Given the description of an element on the screen output the (x, y) to click on. 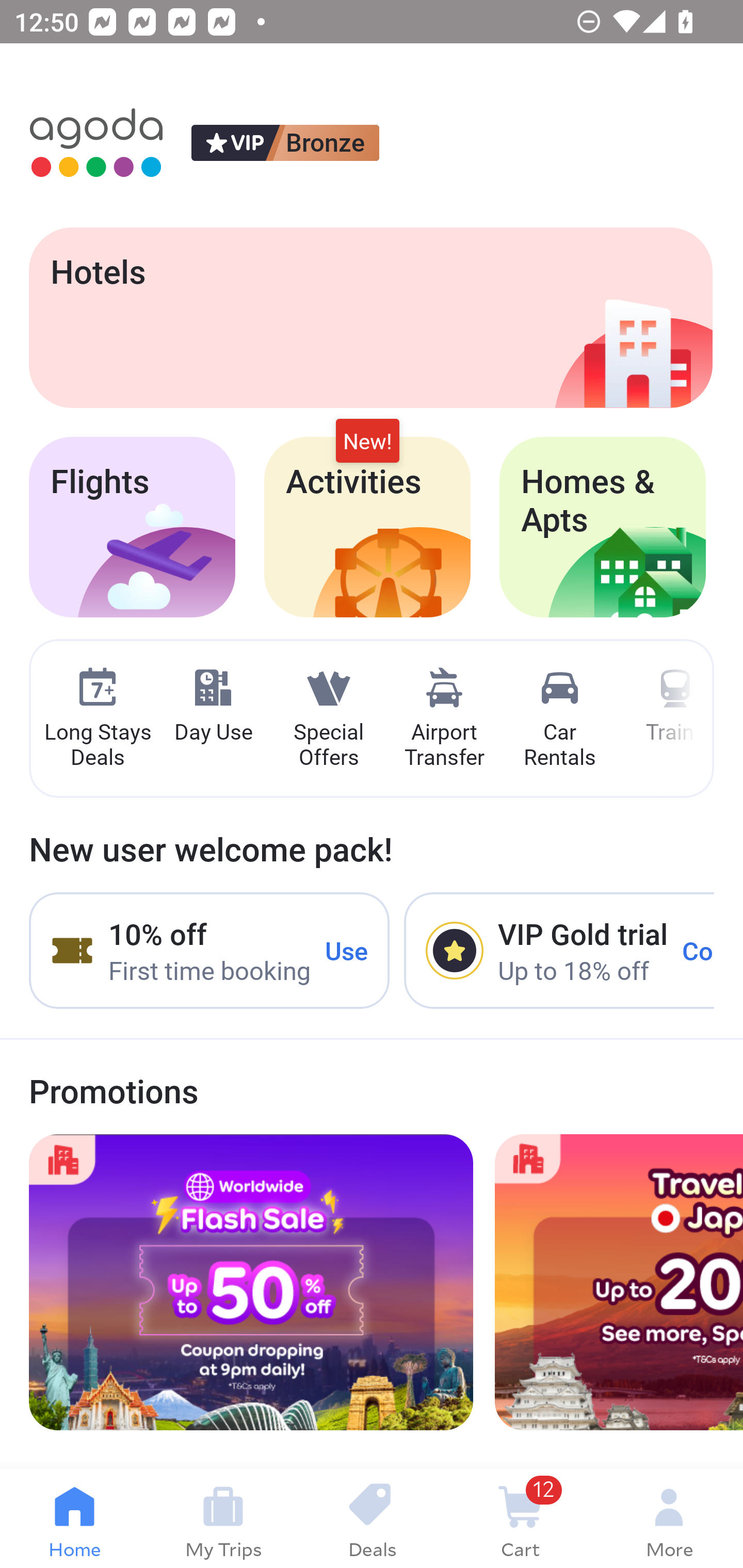
Hotels (370, 317)
New! (367, 441)
Flights (131, 527)
Activities (367, 527)
Homes & Apts (602, 527)
Day Use (213, 706)
Long Stays Deals (97, 718)
Special Offers (328, 718)
Airport Transfer (444, 718)
Car Rentals (559, 718)
Use (346, 950)
Home (74, 1518)
My Trips (222, 1518)
Deals (371, 1518)
12 Cart (519, 1518)
More (668, 1518)
